Given the description of an element on the screen output the (x, y) to click on. 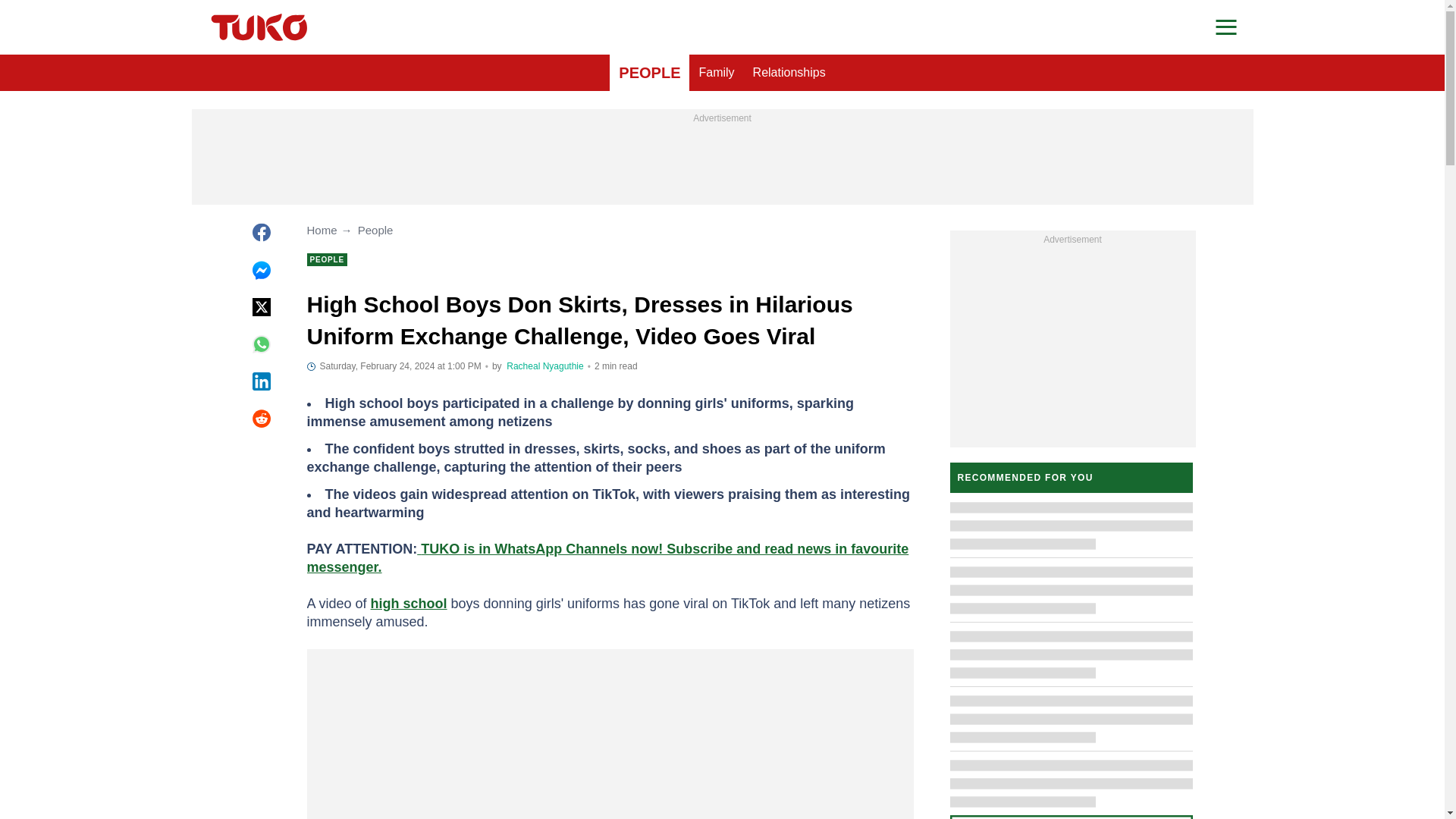
Family (715, 72)
PEOPLE (649, 72)
Relationships (789, 72)
Author page (544, 366)
